Given the description of an element on the screen output the (x, y) to click on. 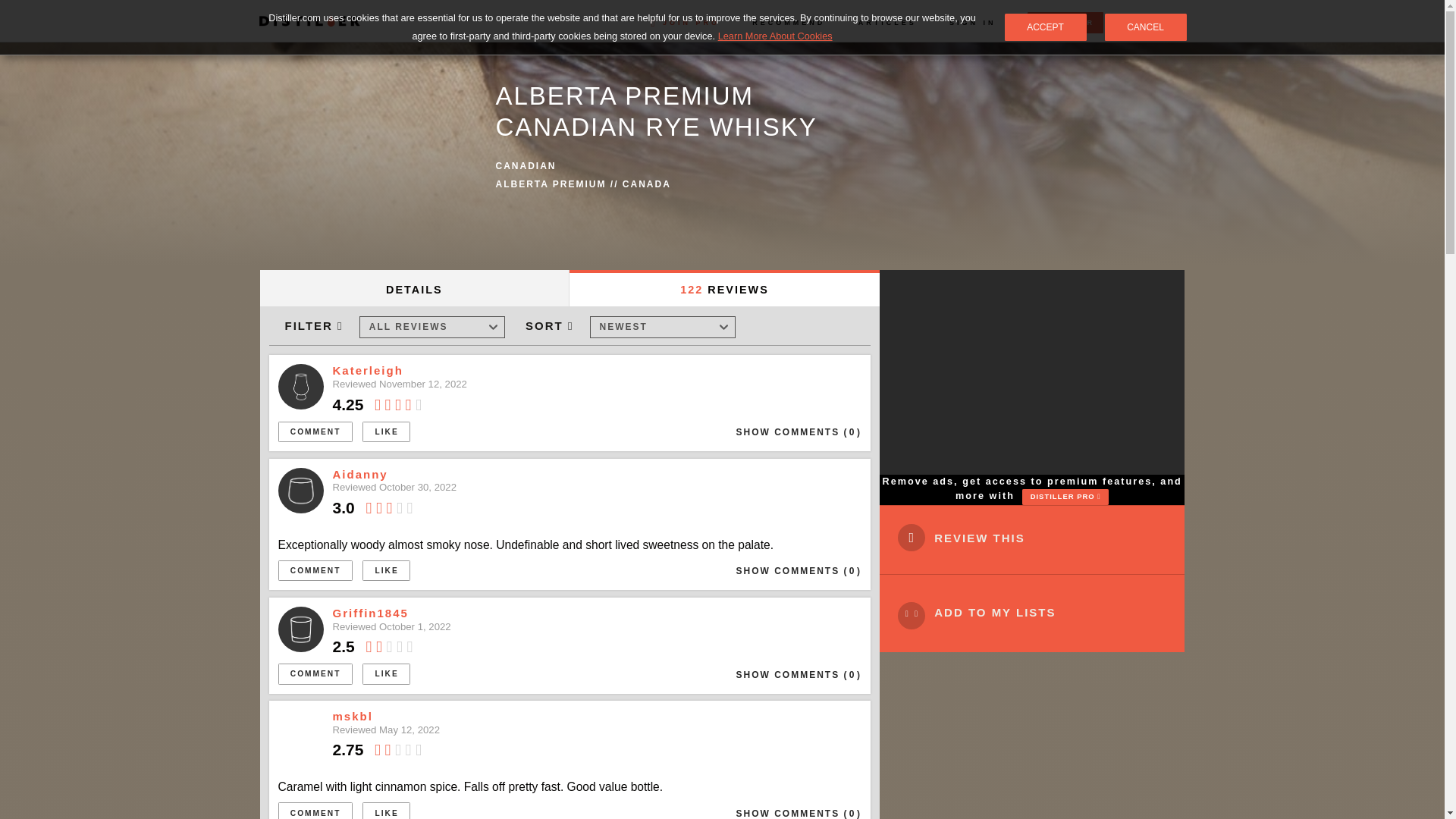
ACCEPT (1045, 26)
Learn More About Cookies (774, 35)
RECOMMEND (789, 22)
REGISTER (1065, 22)
SIGN IN (972, 22)
CANCEL (1144, 26)
JOIN PRO (684, 22)
ARTICLES (887, 22)
